Given the description of an element on the screen output the (x, y) to click on. 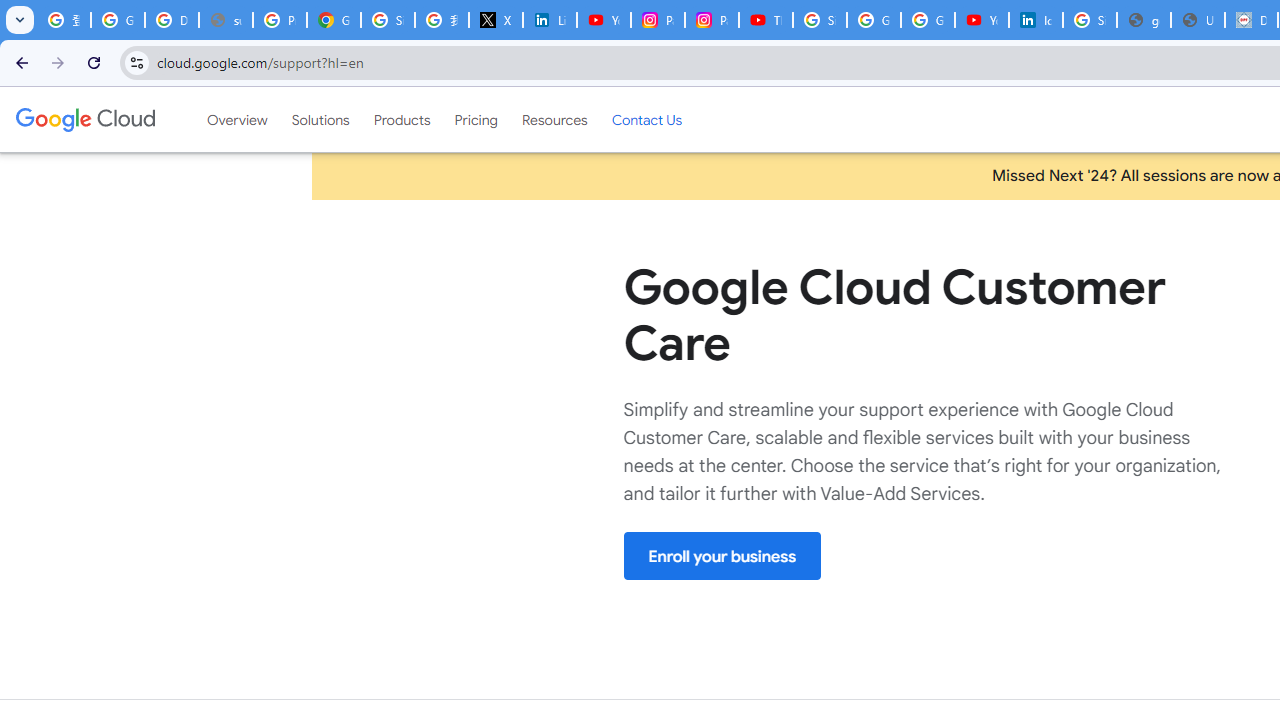
support.google.com - Network error (225, 20)
Google Cloud (84, 119)
Sign in - Google Accounts (819, 20)
Sign in - Google Accounts (387, 20)
